Given the description of an element on the screen output the (x, y) to click on. 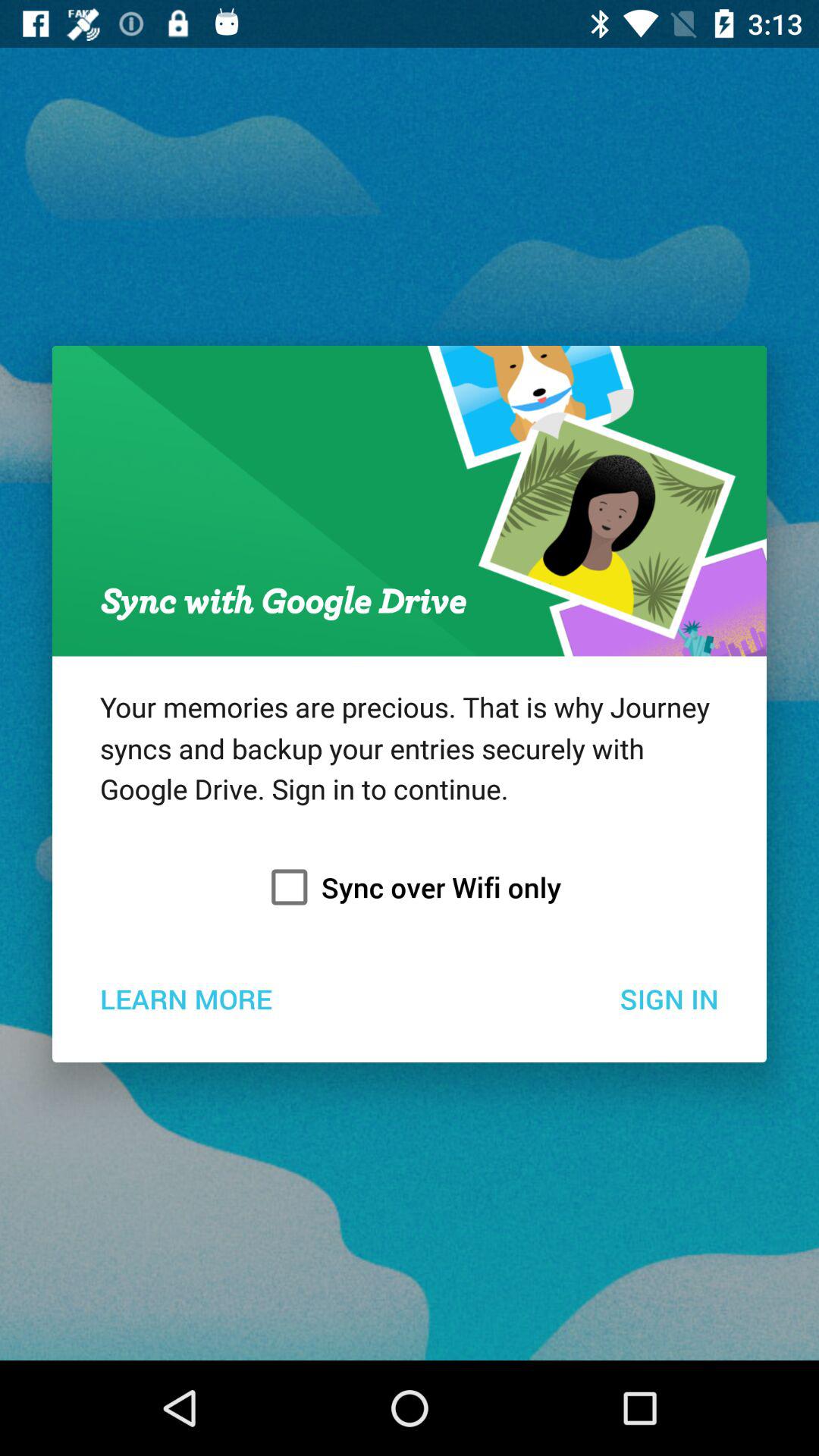
launch icon next to the sign in item (185, 998)
